Given the description of an element on the screen output the (x, y) to click on. 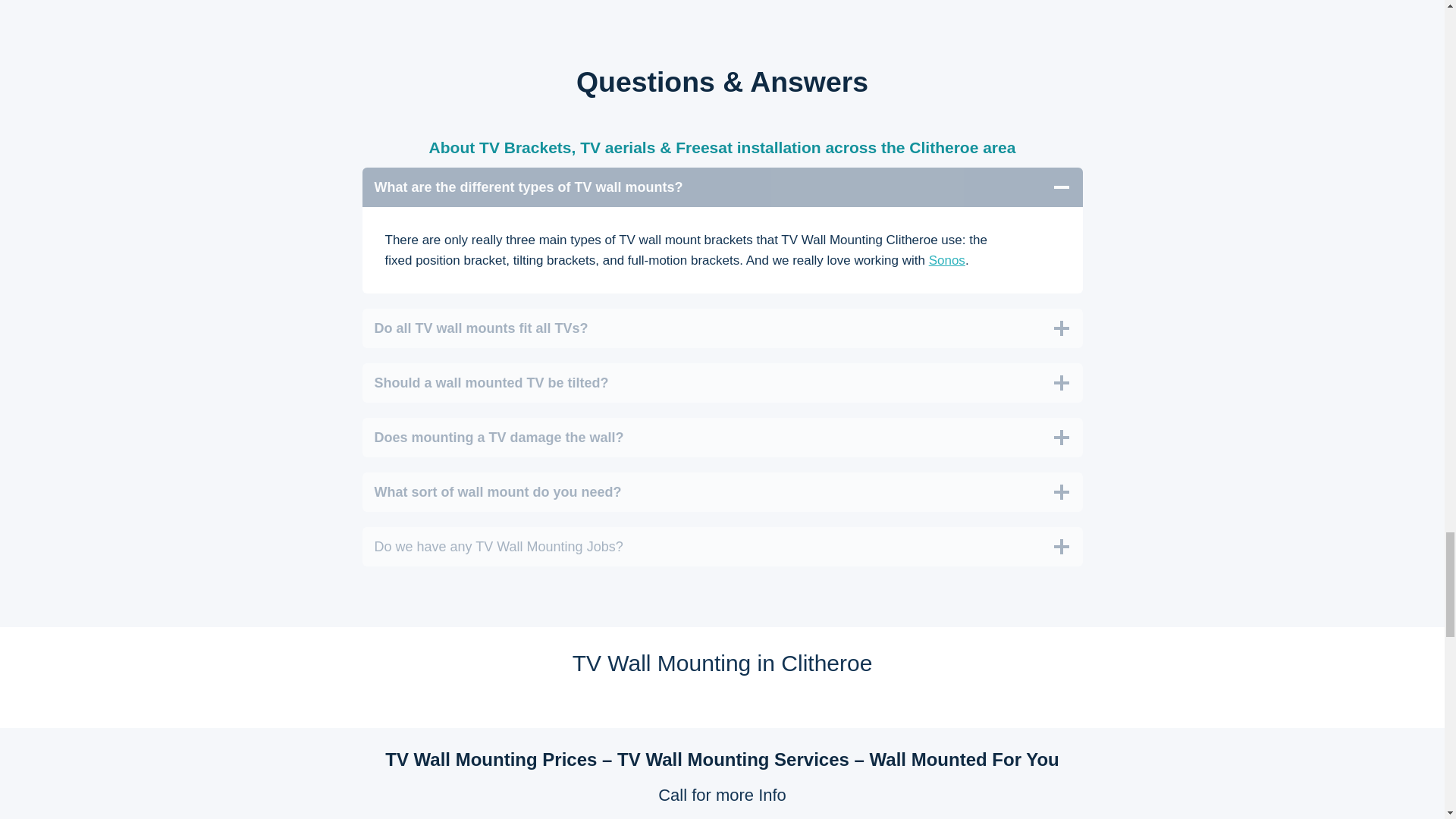
Sonos (946, 260)
Does mounting a TV damage the wall? (722, 437)
What are the different types of TV wall mounts? (722, 187)
Do all TV wall mounts fit all TVs? (722, 328)
Do we have any TV Wall Mounting Jobs? (722, 546)
Should a wall mounted TV be tilted? (722, 382)
What sort of wall mount do you need? (722, 491)
